Given the description of an element on the screen output the (x, y) to click on. 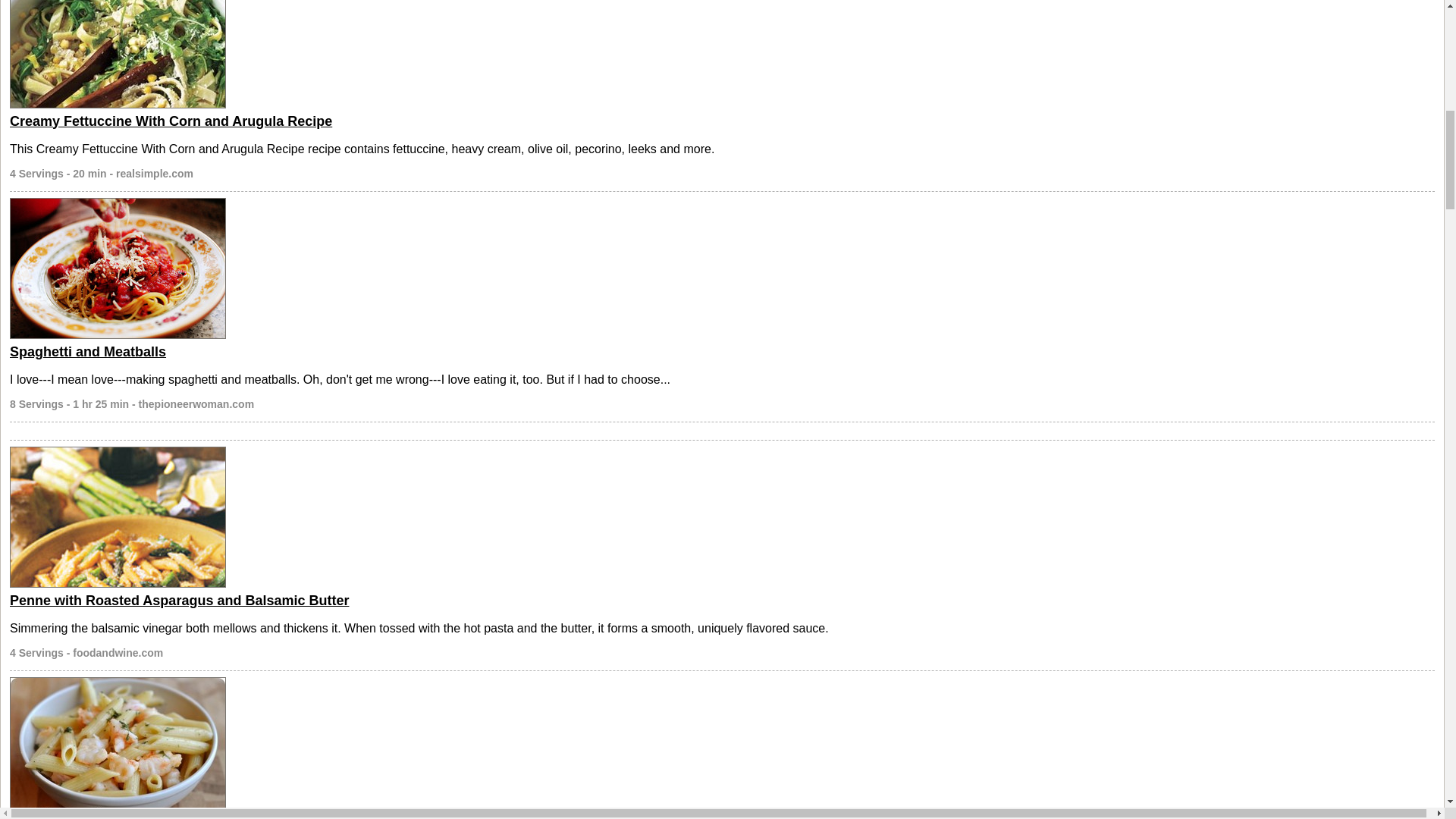
Creamy Fettuccine With Corn and Arugula Recipe (170, 120)
Penne with Roasted Asparagus and Balsamic Butter (179, 600)
Spaghetti and Meatballs (87, 351)
